Given the description of an element on the screen output the (x, y) to click on. 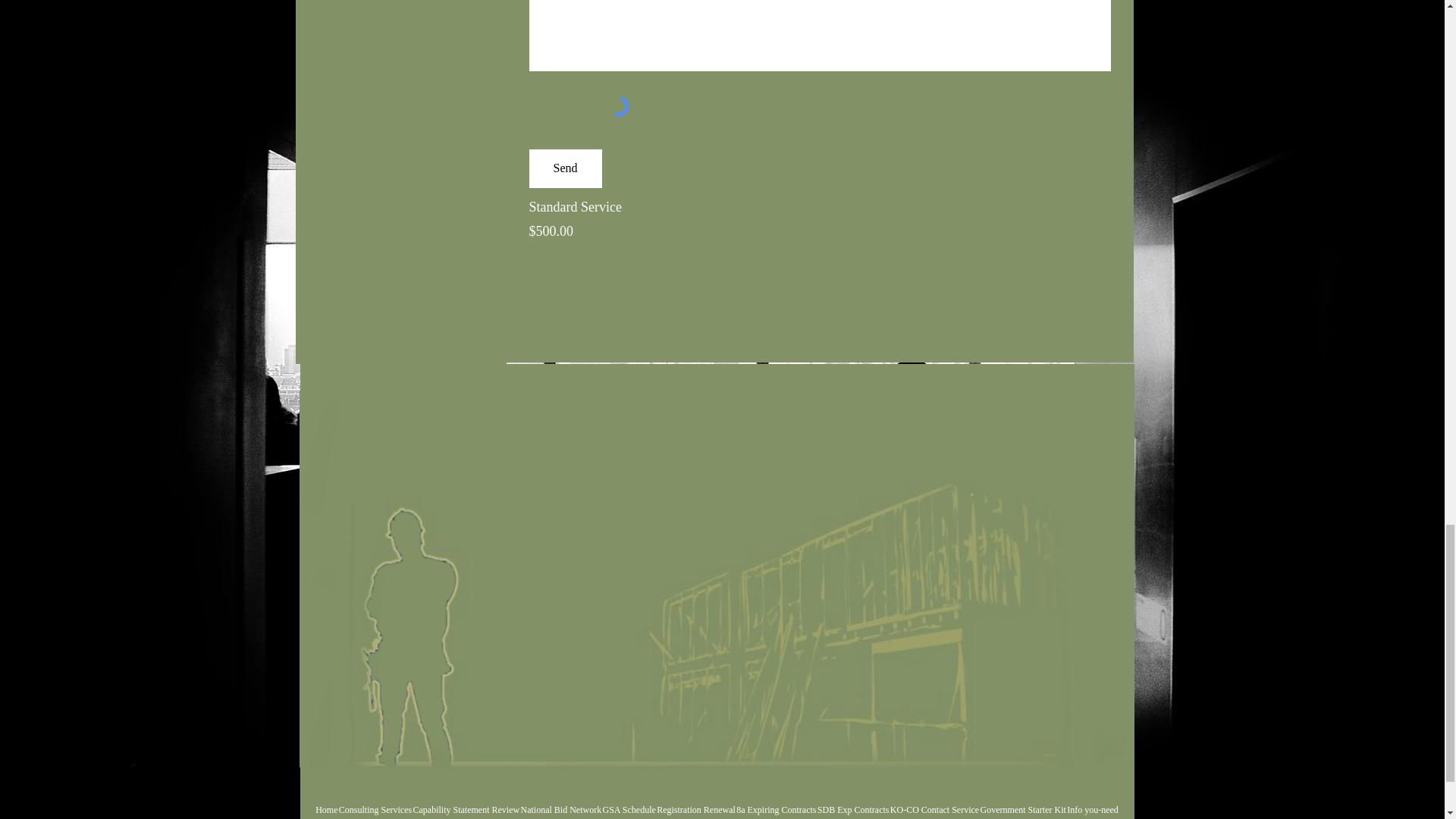
Capability Statement Review (465, 806)
Send (565, 168)
8a Expiring Contracts (775, 806)
National Bid Network (560, 806)
Home (327, 806)
Consulting Services (374, 806)
KO-CO Contact Service (934, 806)
Registration Renewal (696, 806)
Government Starter Kit (1023, 806)
Info you-need (1091, 806)
